Given the description of an element on the screen output the (x, y) to click on. 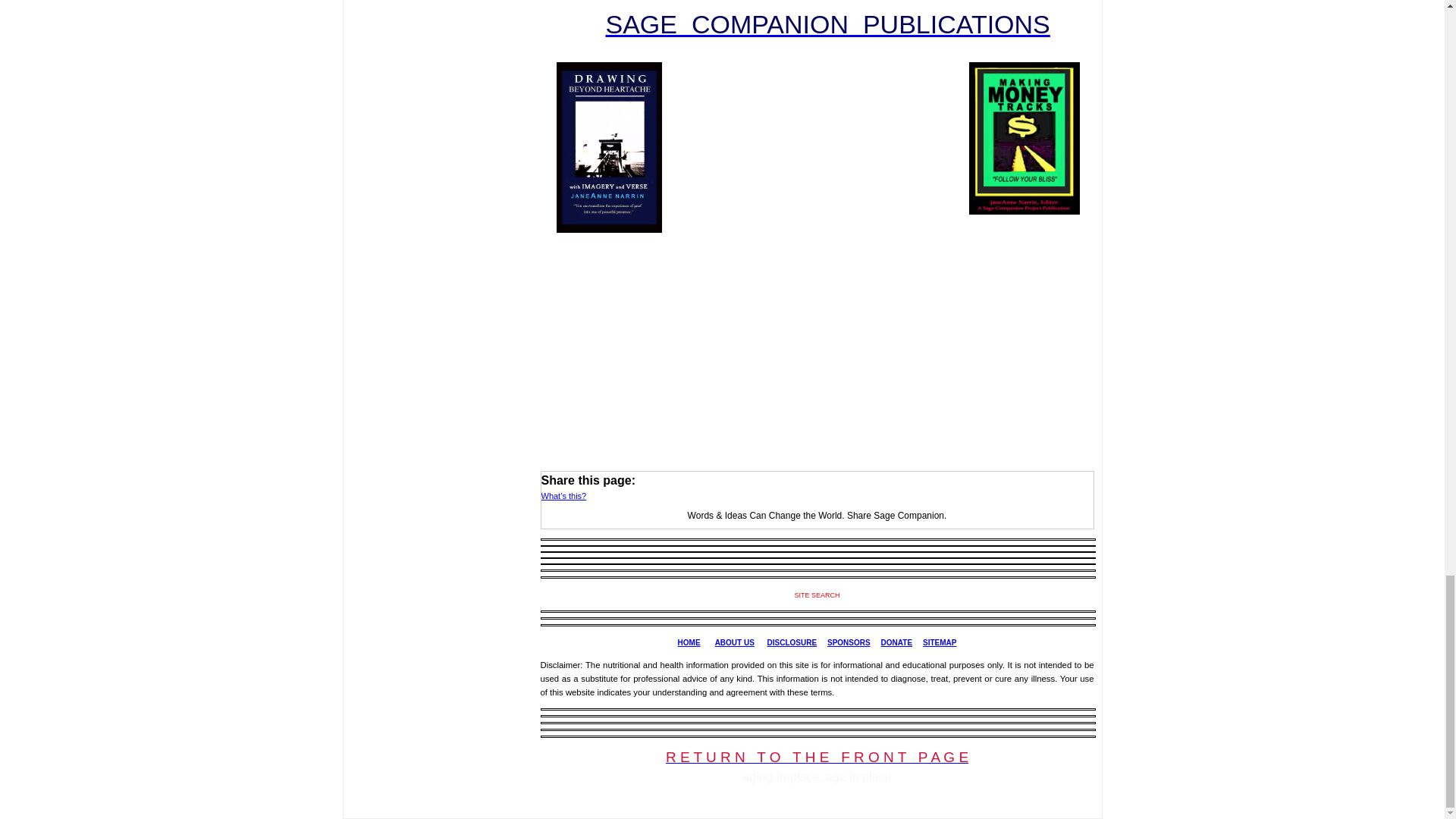
R E T U R N   T O   T H E   F R O N T   P A G E (816, 758)
SITEMAP (939, 642)
SPONSORS (848, 642)
HOME (689, 642)
ABOUT US (734, 642)
DISCLOSURE (791, 642)
SAGE  COMPANION  PUBLICATIONS (827, 23)
DONATE (896, 642)
